Given the description of an element on the screen output the (x, y) to click on. 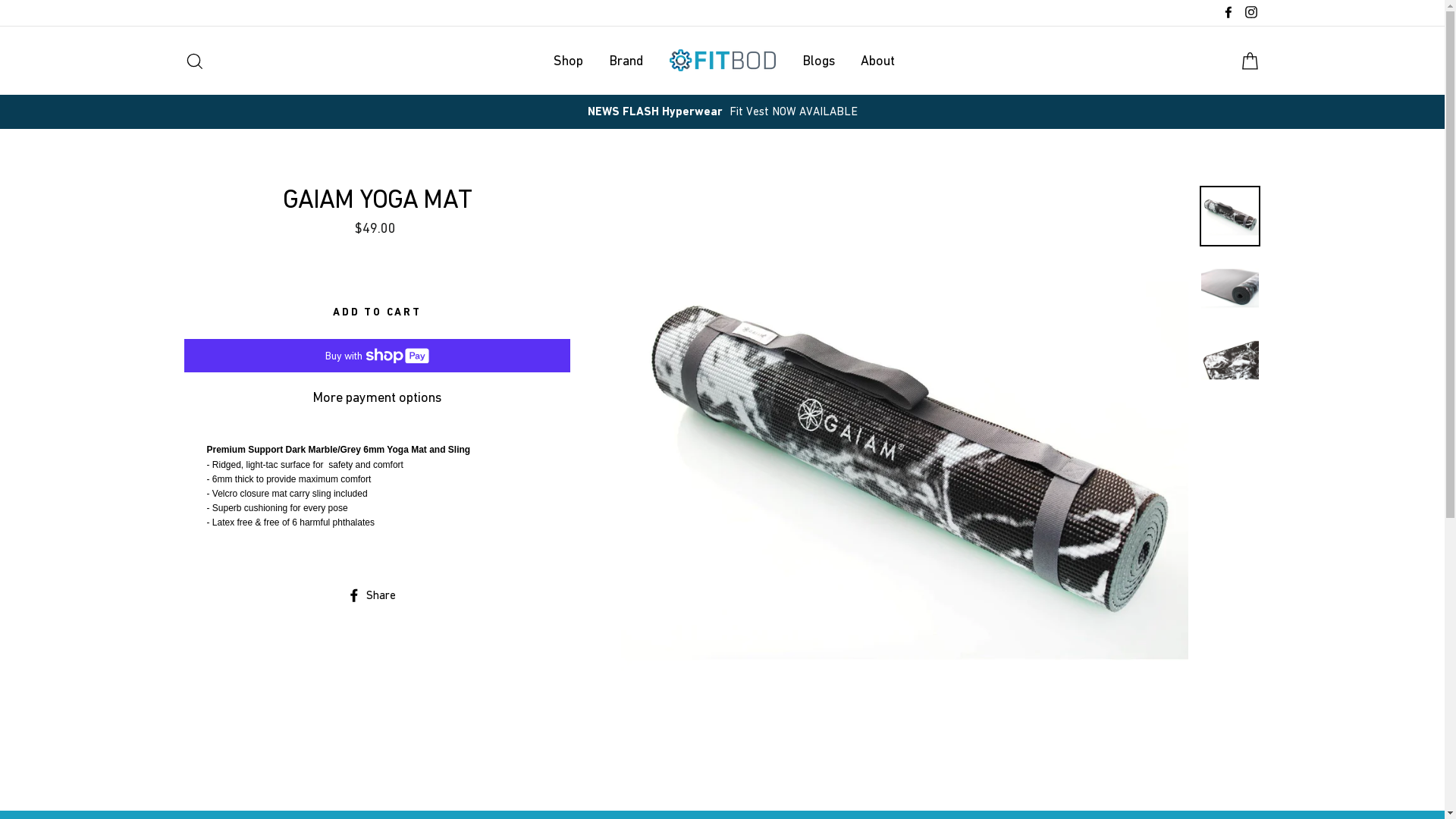
Shop Element type: text (567, 60)
ADD TO CART Element type: text (376, 312)
Cart Element type: text (1249, 60)
Share
Share on Facebook Element type: text (377, 594)
More payment options Element type: text (376, 397)
Search Element type: text (193, 60)
Blogs Element type: text (817, 60)
Facebook Element type: text (1227, 12)
About Element type: text (877, 60)
Skip to content Element type: text (0, 0)
Instagram Element type: text (1250, 12)
Brand Element type: text (625, 60)
